Given the description of an element on the screen output the (x, y) to click on. 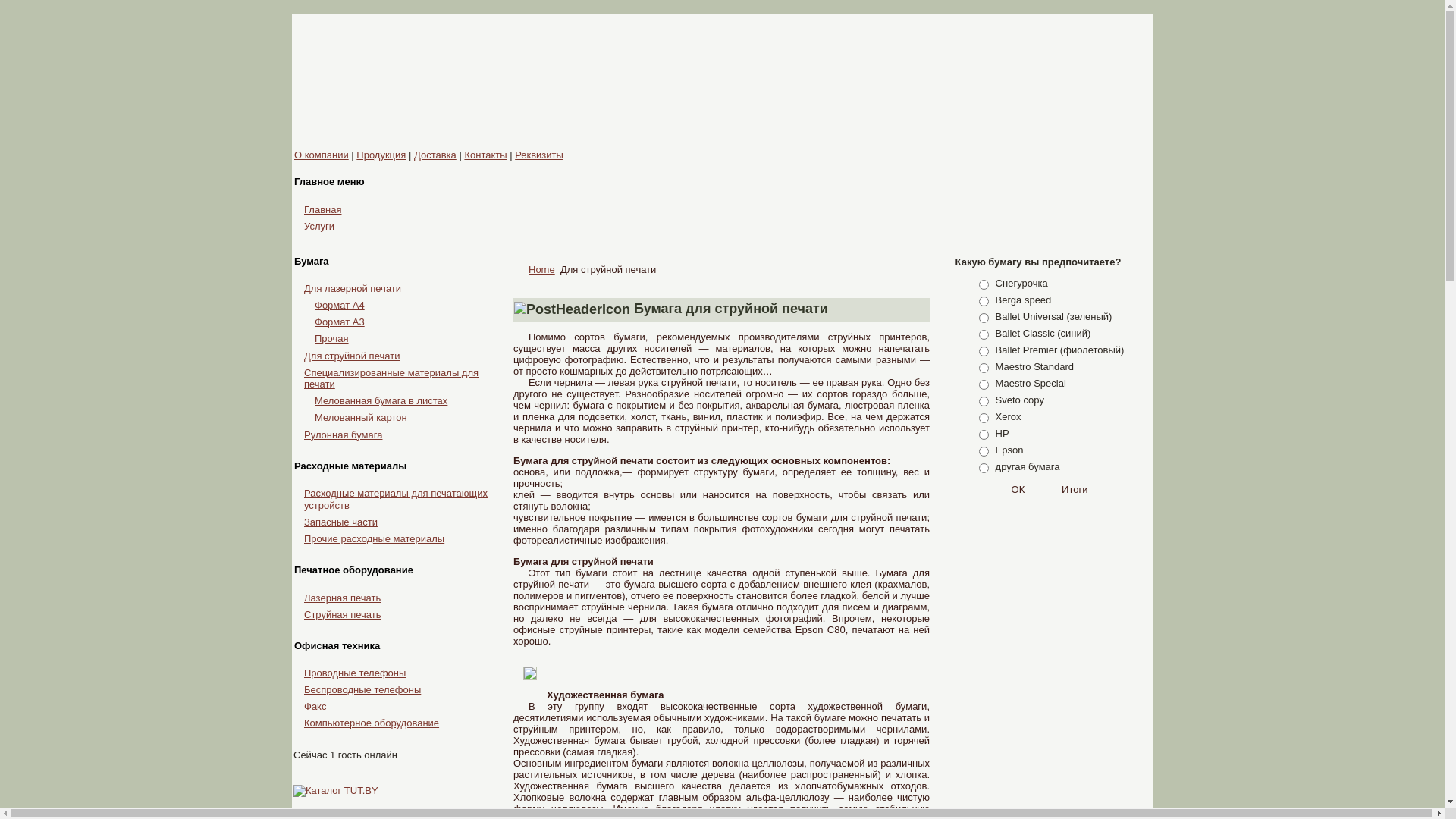
Home Element type: text (541, 269)
